Given the description of an element on the screen output the (x, y) to click on. 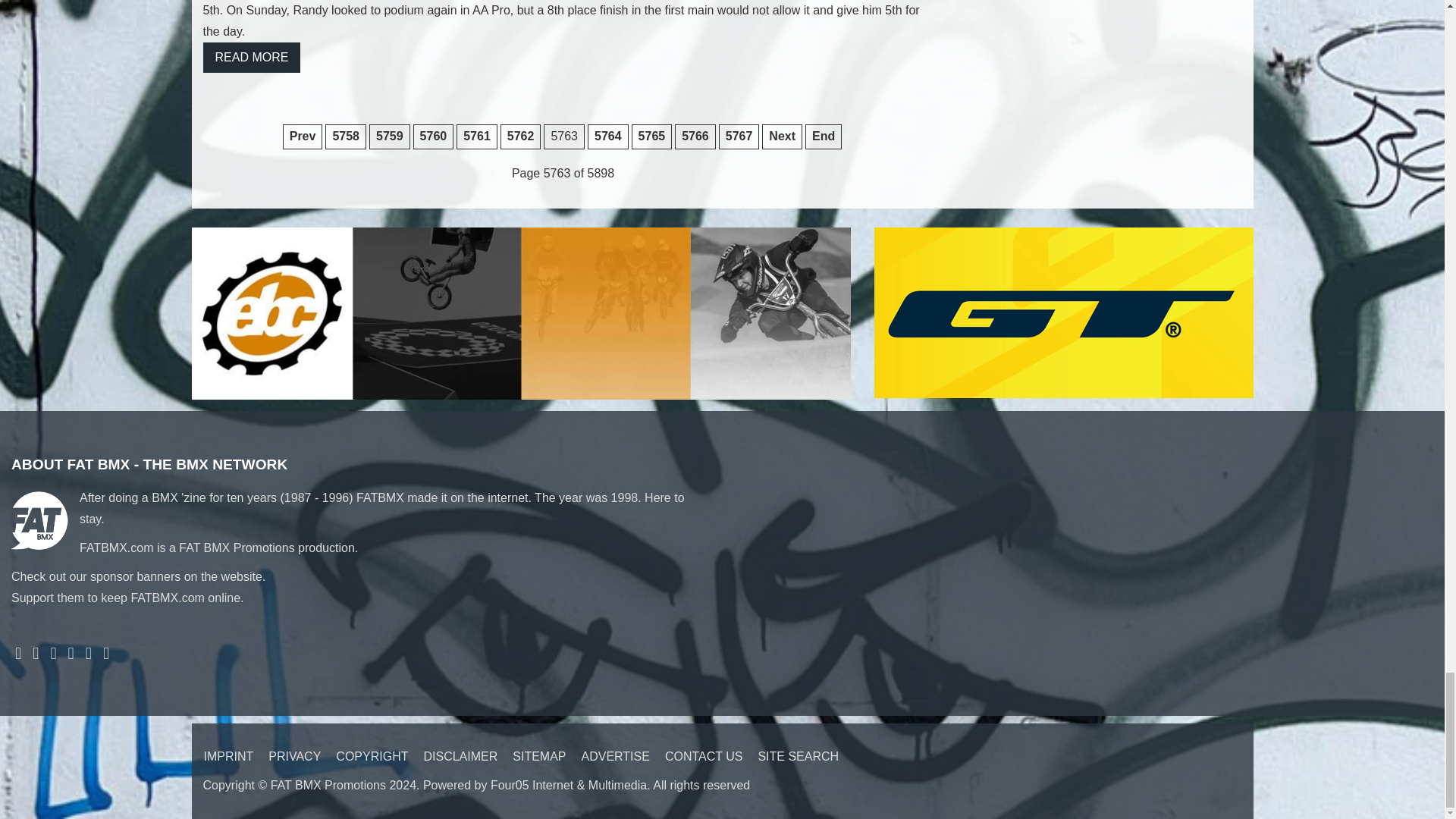
5758 (345, 136)
5765 (651, 136)
Prev (302, 136)
5766 (695, 136)
5761 (477, 136)
5764 (608, 136)
5759 (389, 136)
5760 (433, 136)
5762 (520, 136)
